Given the description of an element on the screen output the (x, y) to click on. 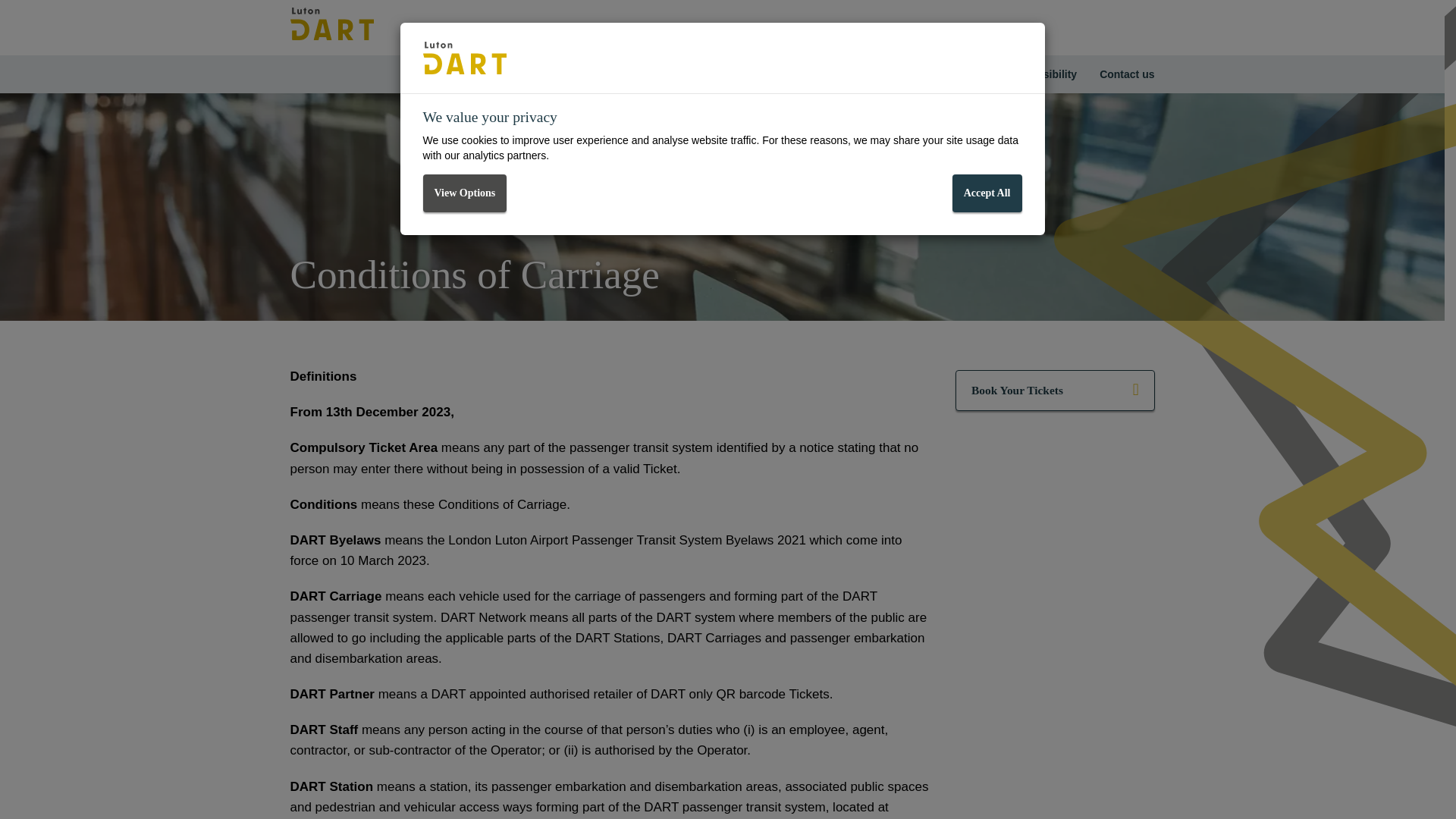
Concessions (905, 74)
Contact us (1126, 74)
FAQs (975, 74)
Book Your Tickets (1054, 390)
Accessibility (1045, 74)
About (834, 74)
